Given the description of an element on the screen output the (x, y) to click on. 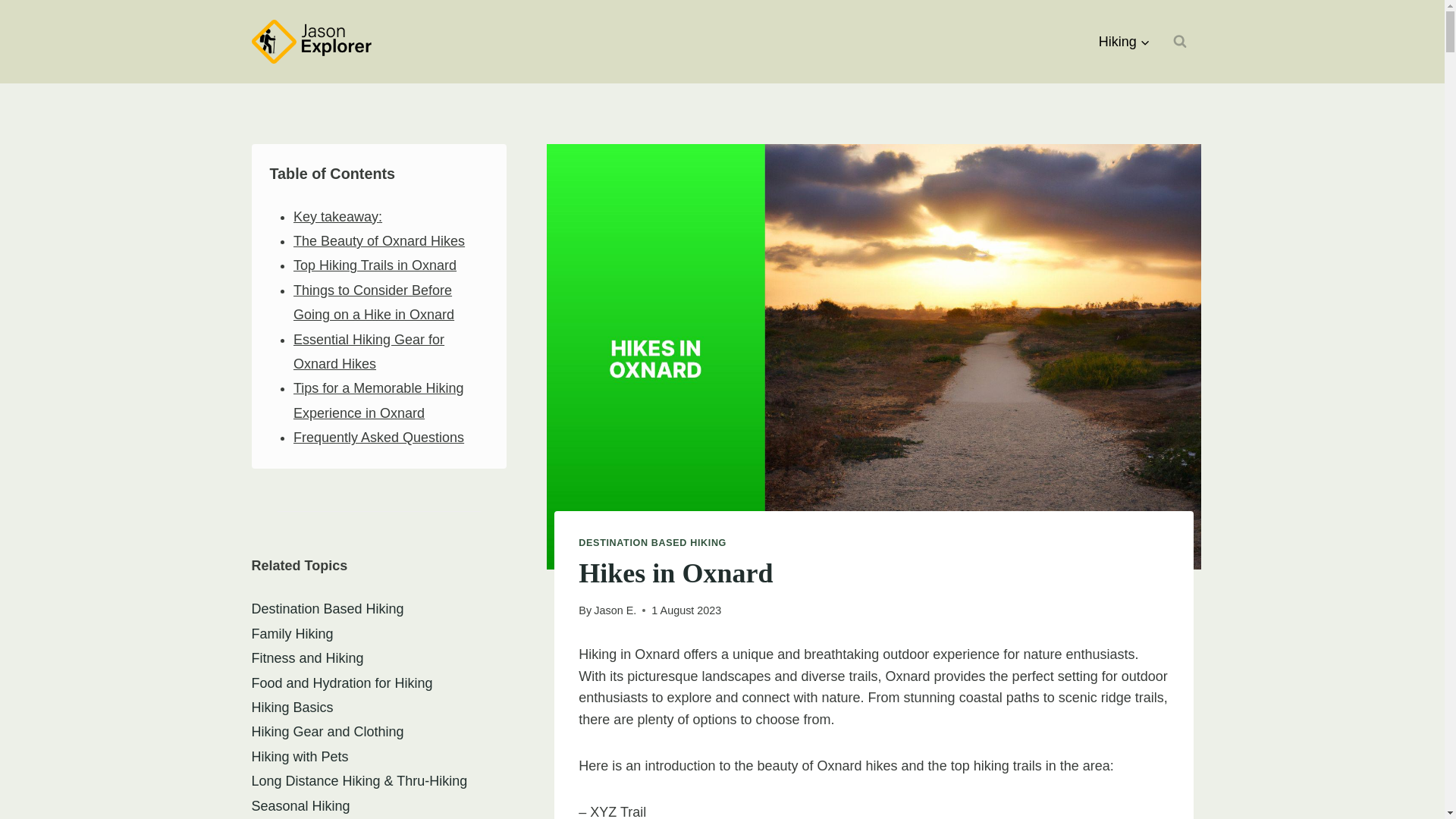
DESTINATION BASED HIKING (652, 542)
Jason E. (615, 610)
Hiking (1124, 41)
